Given the description of an element on the screen output the (x, y) to click on. 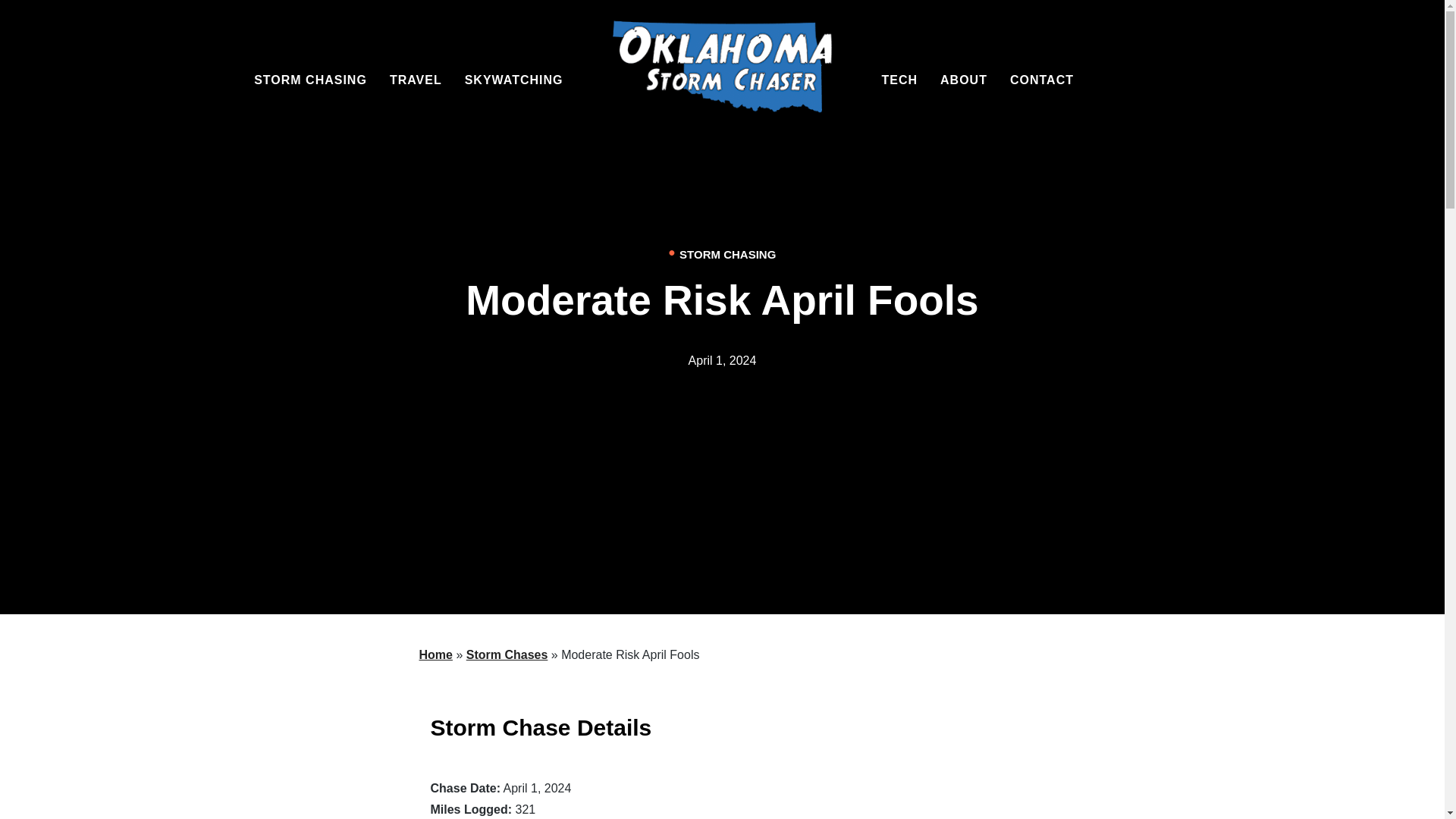
Storm Chases (506, 654)
SKYWATCHING (513, 80)
STORM CHASING (309, 80)
Oklahoma Storm Chaser Ben Holcomb (722, 73)
TRAVEL (416, 80)
Home (435, 654)
CONTACT (1042, 80)
ABOUT (963, 80)
TECH (898, 80)
